Given the description of an element on the screen output the (x, y) to click on. 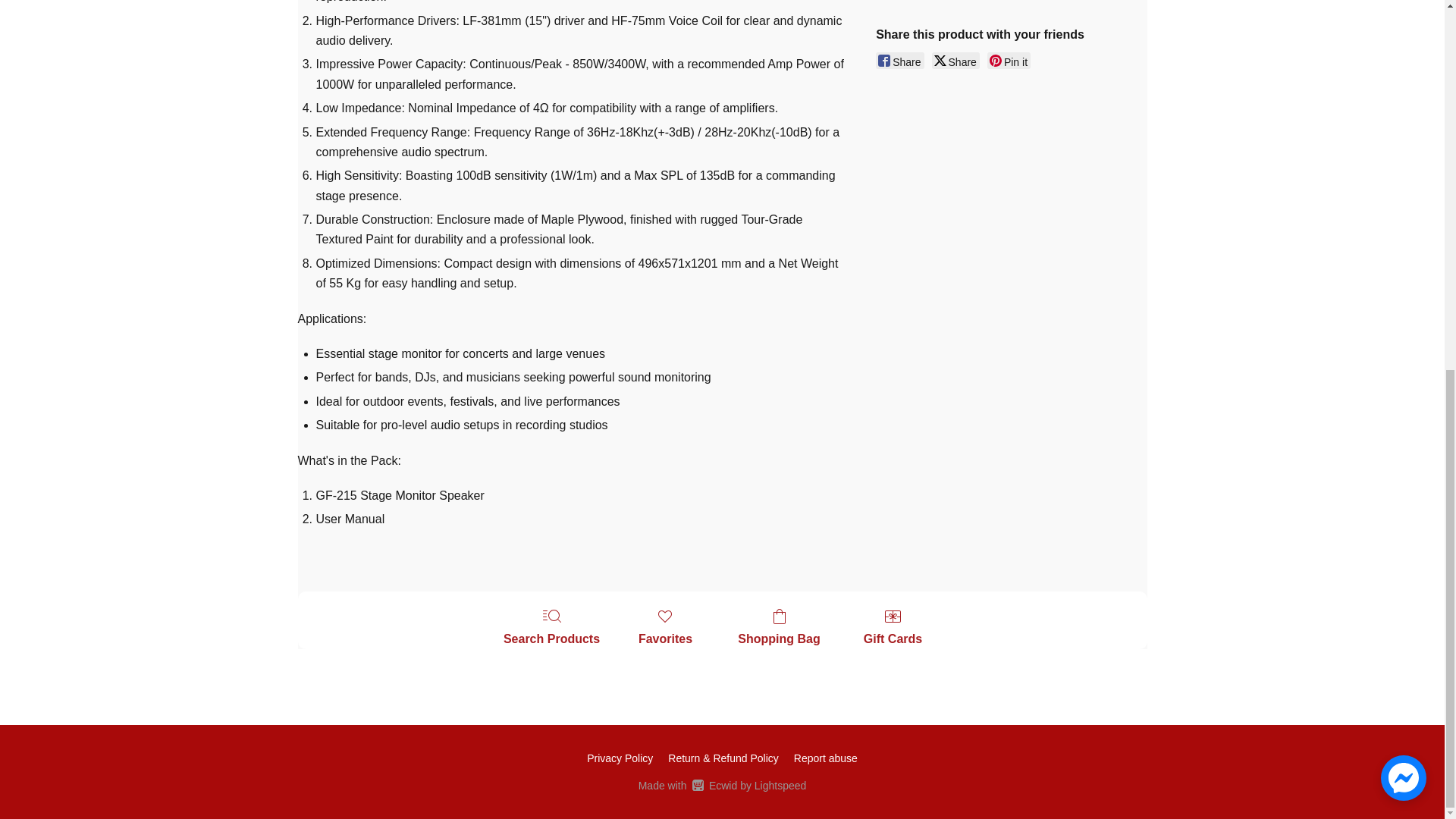
Privacy Policy (619, 758)
Pin it (1008, 60)
Share (899, 60)
Share (955, 60)
Favorites (665, 628)
Gift Cards (893, 628)
Search Products (551, 628)
Shopping Bag (778, 628)
